Given the description of an element on the screen output the (x, y) to click on. 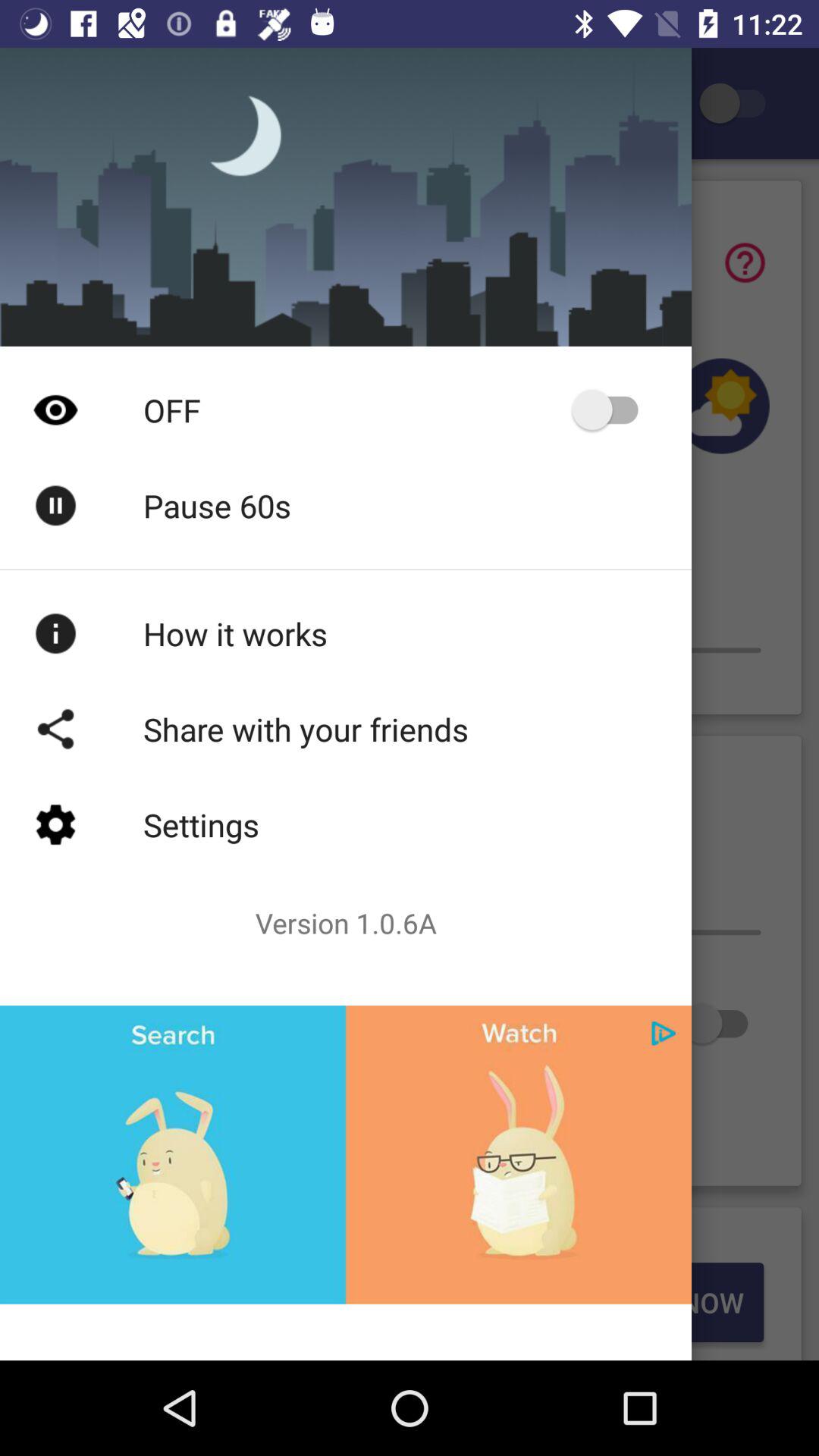
toggle off button (612, 409)
